Given the description of an element on the screen output the (x, y) to click on. 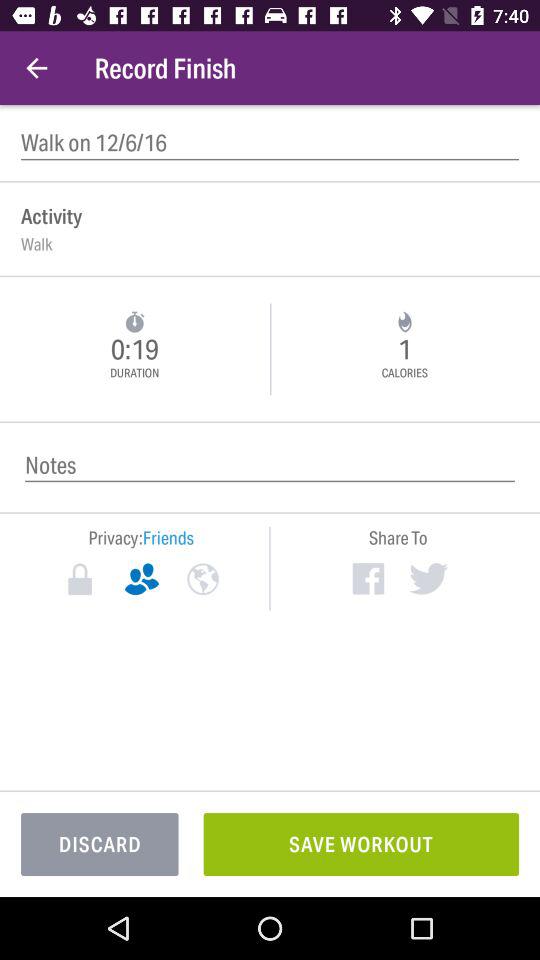
choose the item next to the discard (361, 844)
